Given the description of an element on the screen output the (x, y) to click on. 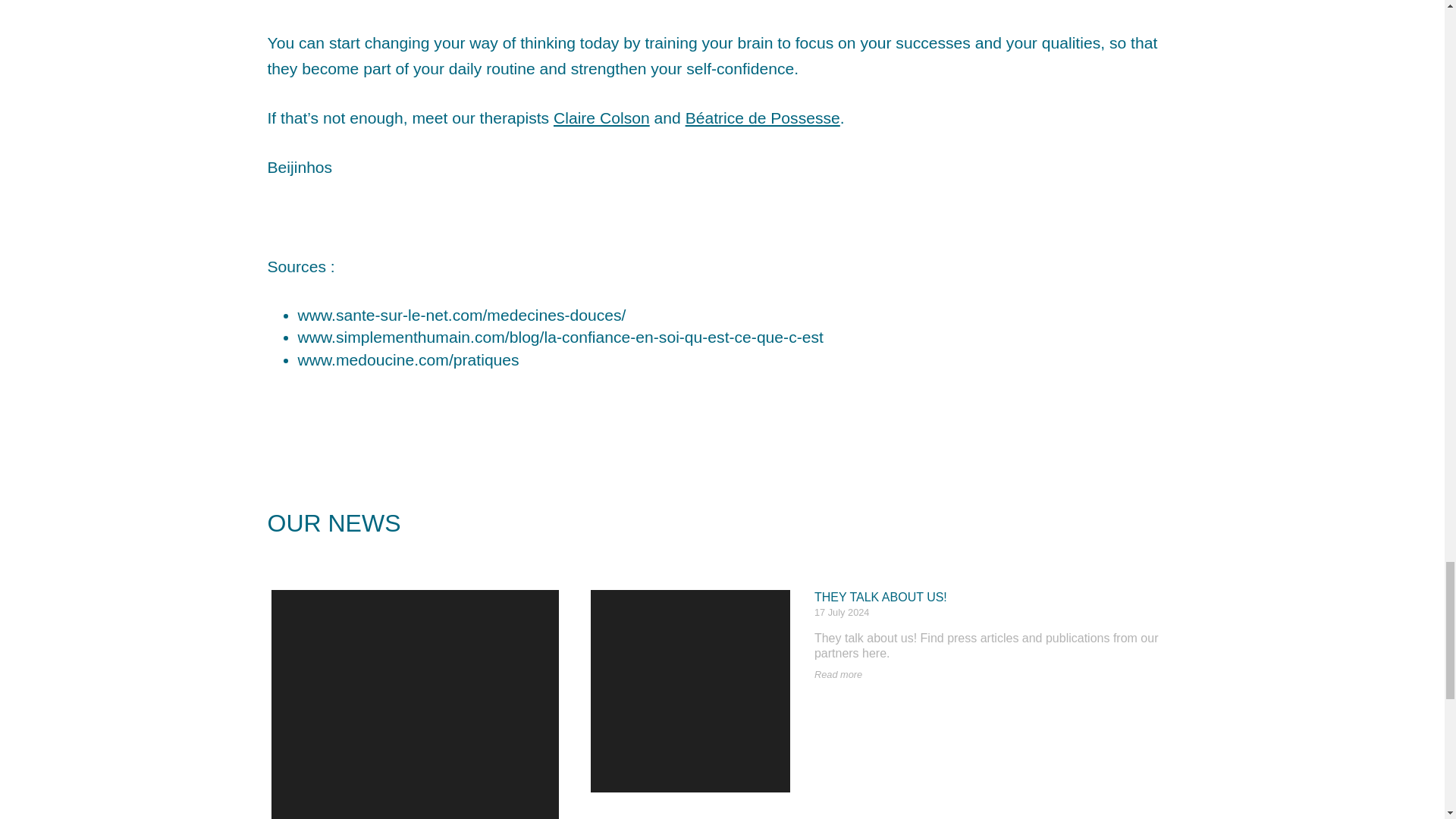
OUR NEWS (721, 547)
Claire Colson (601, 117)
